Given the description of an element on the screen output the (x, y) to click on. 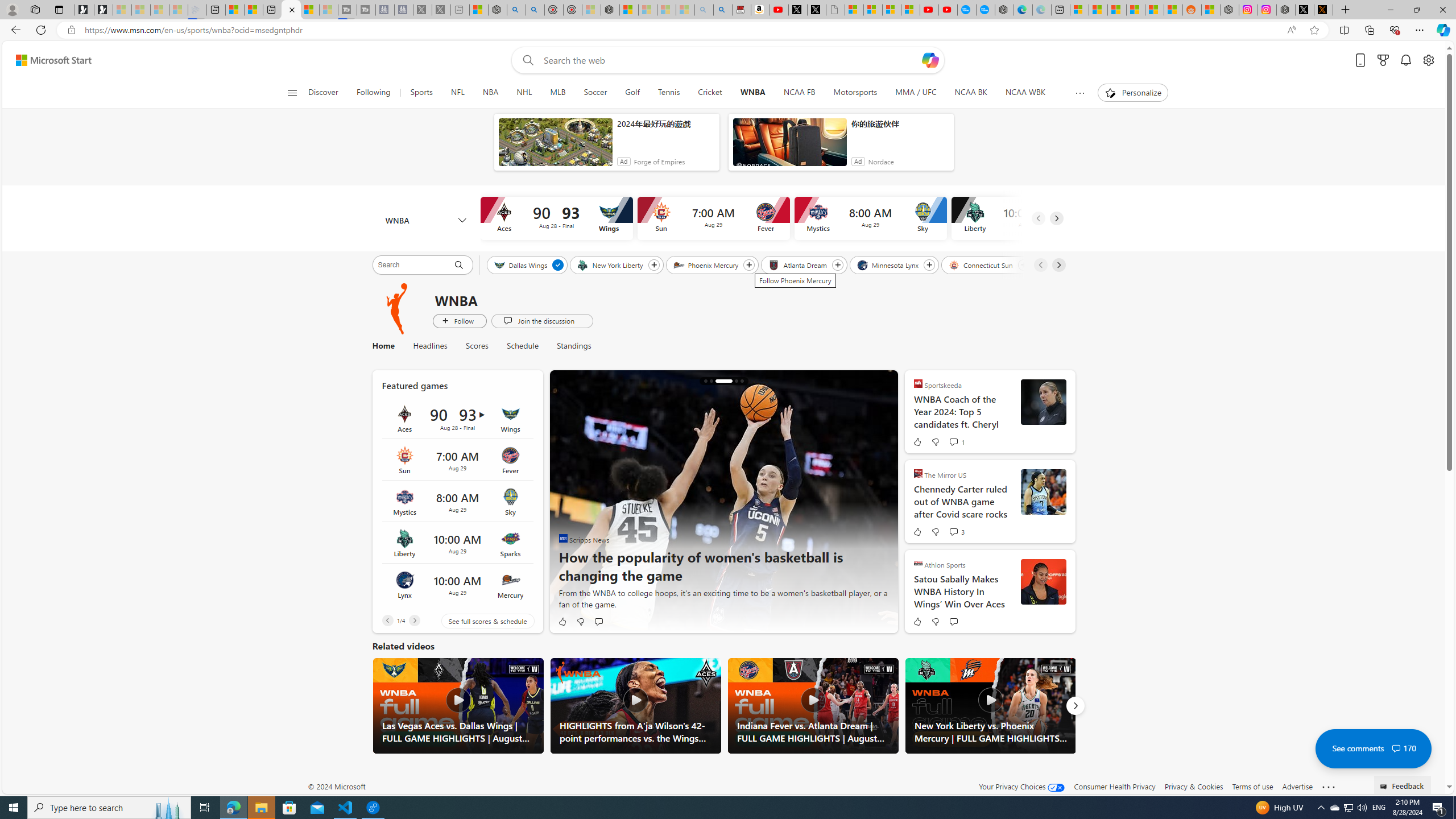
Soccer (595, 92)
Dallas Wings (521, 264)
poe - Search (515, 9)
Advertise (1297, 785)
Tennis (667, 92)
Class: feedback_link_icon-DS-EntryPoint1-1 (1384, 786)
Join the discussion (541, 320)
Show more topics (1079, 92)
